Given the description of an element on the screen output the (x, y) to click on. 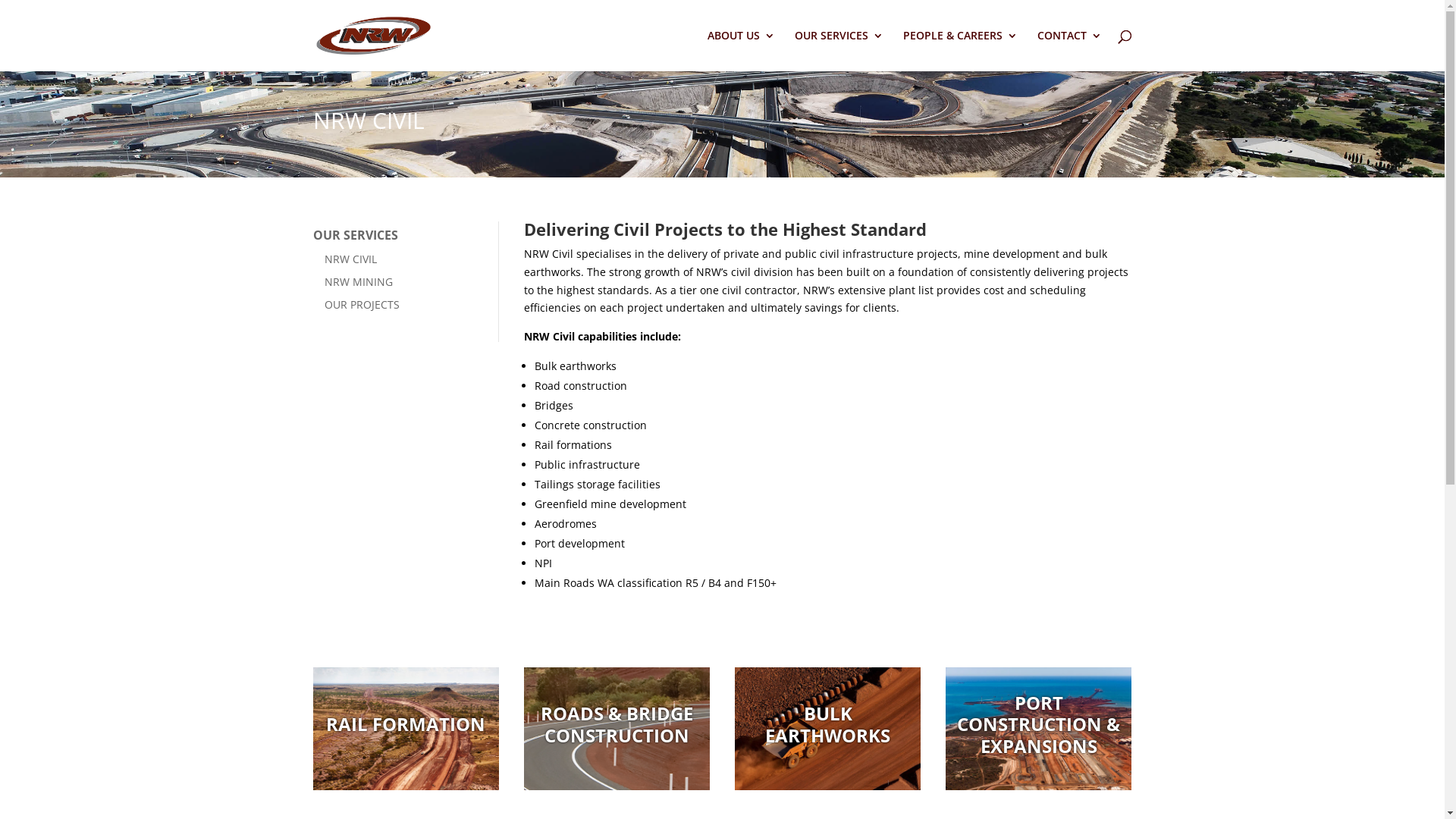
BULK EARTHWORKS Element type: text (827, 728)
PORT CONSTRUCTION & EXPANSIONS Element type: text (1038, 724)
PEOPLE & CAREERS Element type: text (959, 50)
OUR PROJECTS Element type: text (400, 304)
RAIL FORMATION Element type: text (405, 728)
OUR SERVICES Element type: text (393, 235)
PORT CONSTRUCTION & EXPANSIONS Element type: text (1038, 728)
ROADS & BRIDGE CONSTRUCTION Element type: text (617, 728)
NRW MINING Element type: text (400, 281)
Home Element type: hover (373, 34)
RAIL FORMATION Element type: text (405, 724)
BULK EARTHWORKS Element type: text (827, 724)
CONTACT Element type: text (1069, 50)
ABOUT US Element type: text (740, 50)
ROADS & BRIDGE CONSTRUCTION Element type: text (616, 724)
OUR SERVICES Element type: text (838, 50)
NRW CIVIL Element type: text (400, 259)
